Given the description of an element on the screen output the (x, y) to click on. 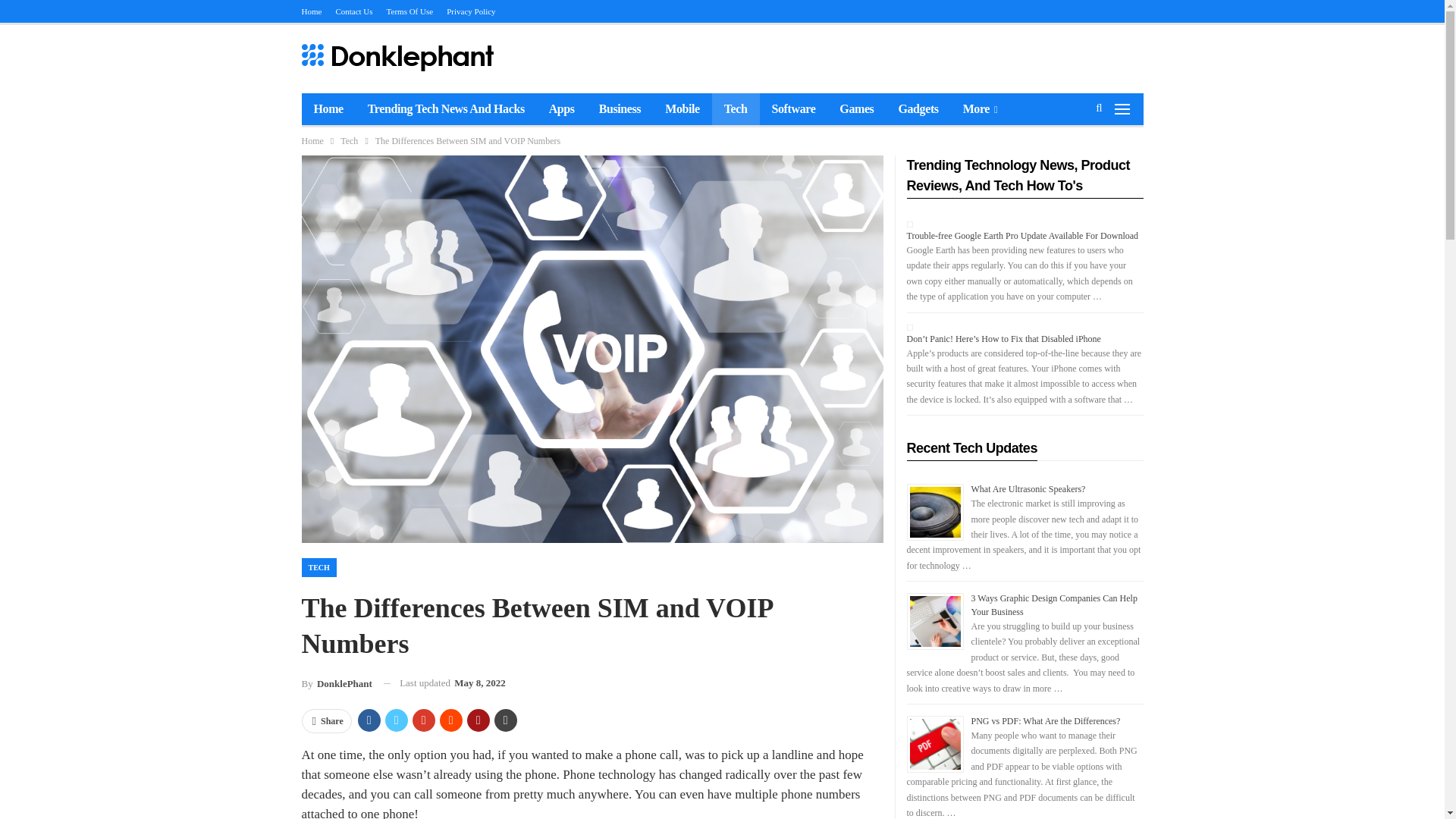
Tech (349, 140)
Apps (561, 109)
Trending Tech News And Hacks (446, 109)
Gadgets (917, 109)
Software (794, 109)
Home (328, 109)
By DonklePhant (336, 683)
Mobile (681, 109)
Tech (735, 109)
Home (312, 140)
